Given the description of an element on the screen output the (x, y) to click on. 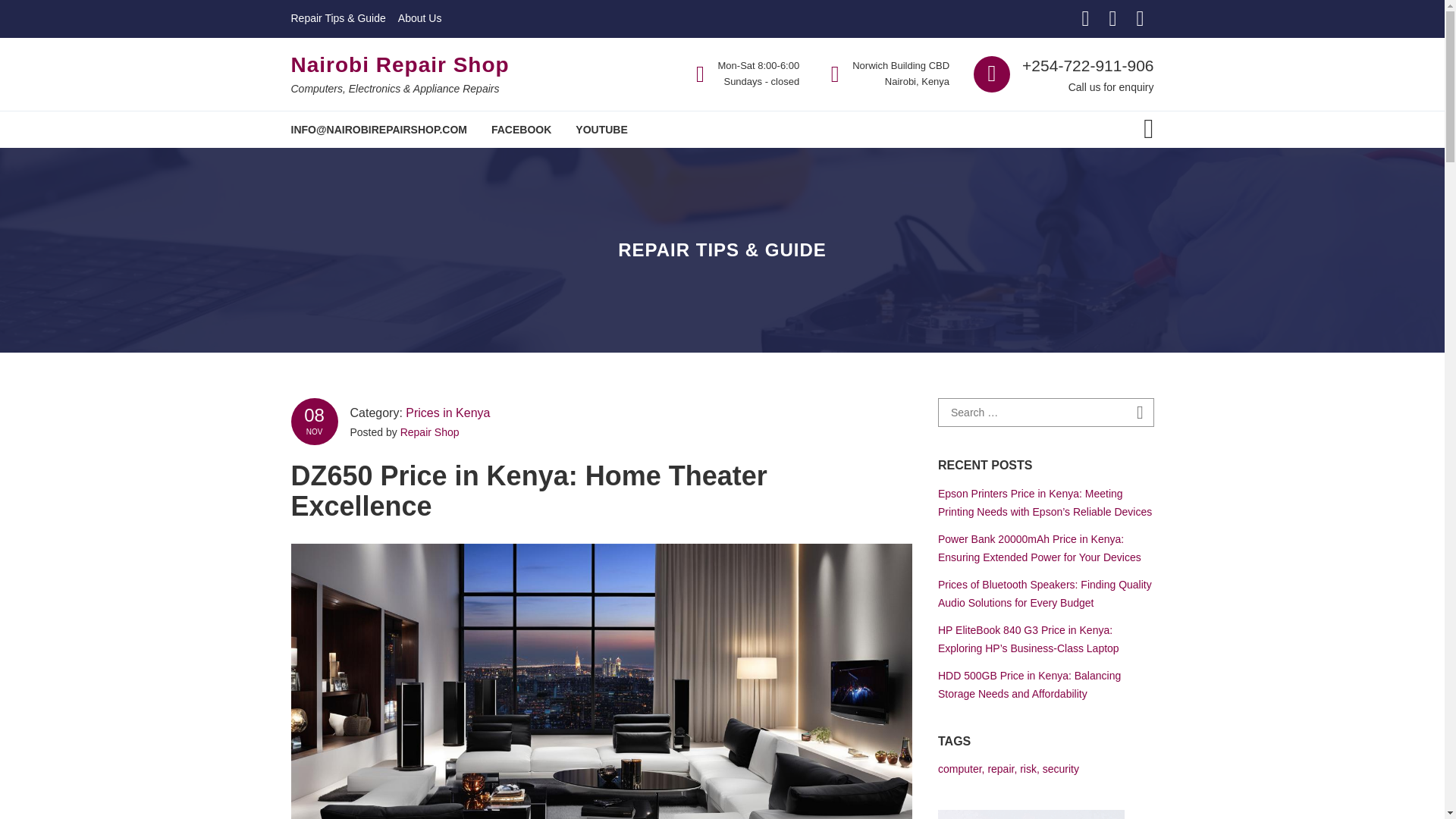
Search (1140, 412)
Nairobi Repair Shop (400, 64)
Posts by Repair Shop (430, 431)
View your shopping cart (1147, 129)
security (1060, 768)
YOUTUBE (601, 129)
computer (959, 768)
risk (1028, 768)
About Us (419, 18)
FACEBOOK (521, 129)
repair (1000, 768)
Repair Shop (430, 431)
Prices in Kenya (447, 412)
